Given the description of an element on the screen output the (x, y) to click on. 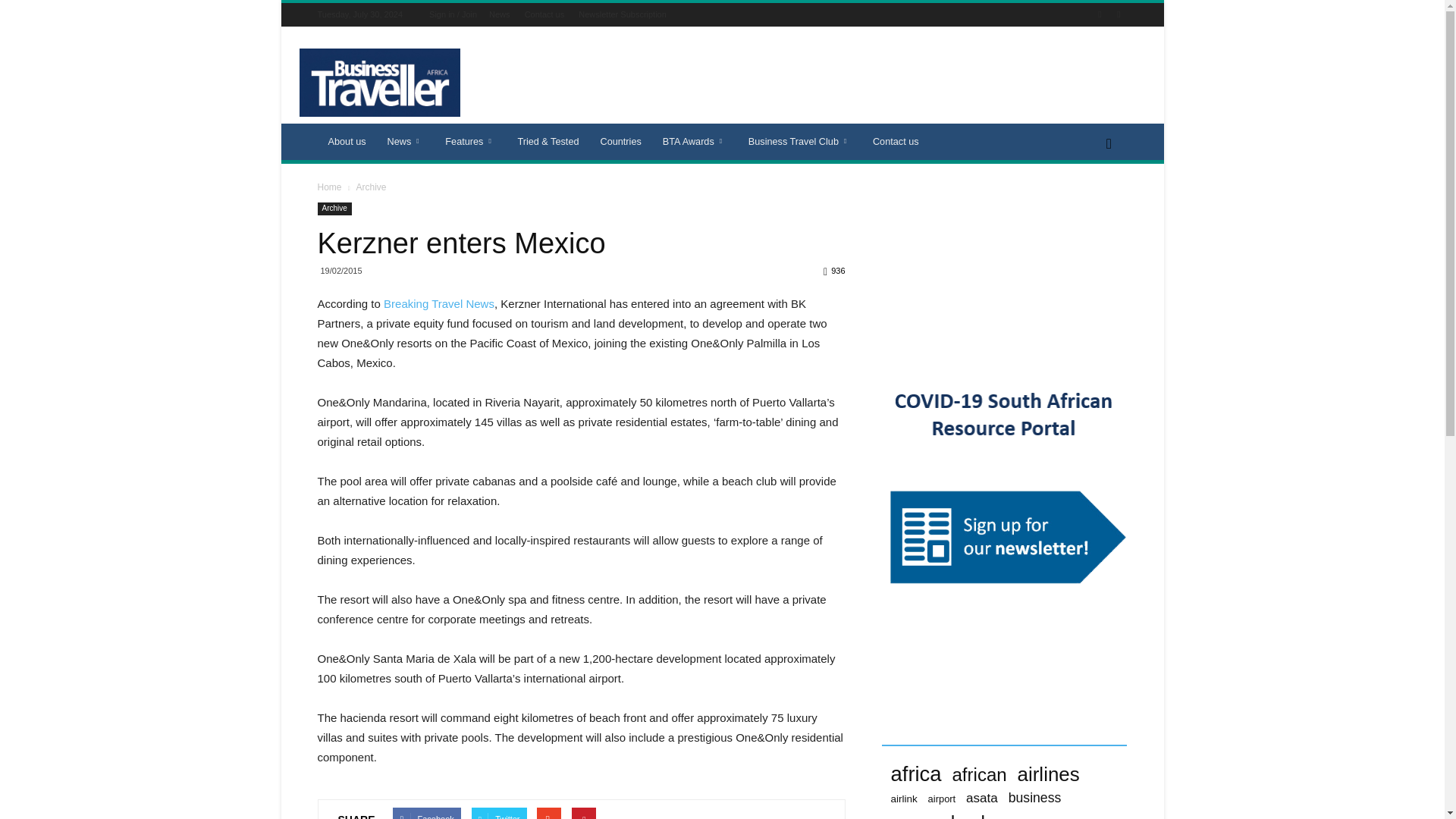
Newsletter Subscription (622, 13)
View all posts in Archive (370, 186)
YouTube video player (1003, 271)
Twitter (1117, 13)
About us (346, 141)
News (406, 141)
News (500, 13)
Facebook (1099, 13)
Contact us (544, 13)
